Given the description of an element on the screen output the (x, y) to click on. 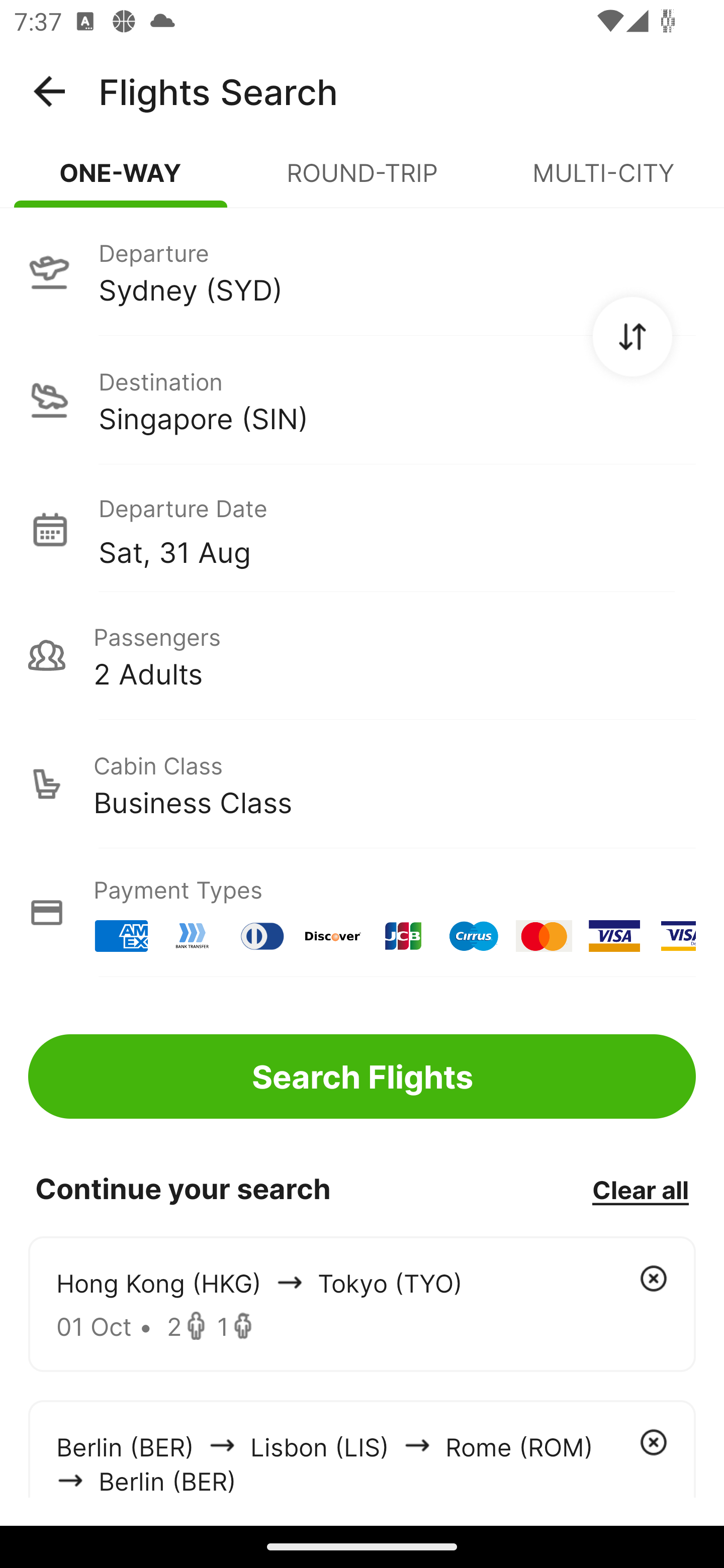
ONE-WAY (120, 180)
ROUND-TRIP (361, 180)
MULTI-CITY (603, 180)
Departure Sydney (SYD) (362, 270)
Destination Singapore (SIN) (362, 400)
Departure Date Sat, 31 Aug (396, 528)
Passengers 2 Adults (362, 655)
Cabin Class Business Class (362, 783)
Payment Types (362, 912)
Search Flights (361, 1075)
Clear all (640, 1189)
